Given the description of an element on the screen output the (x, y) to click on. 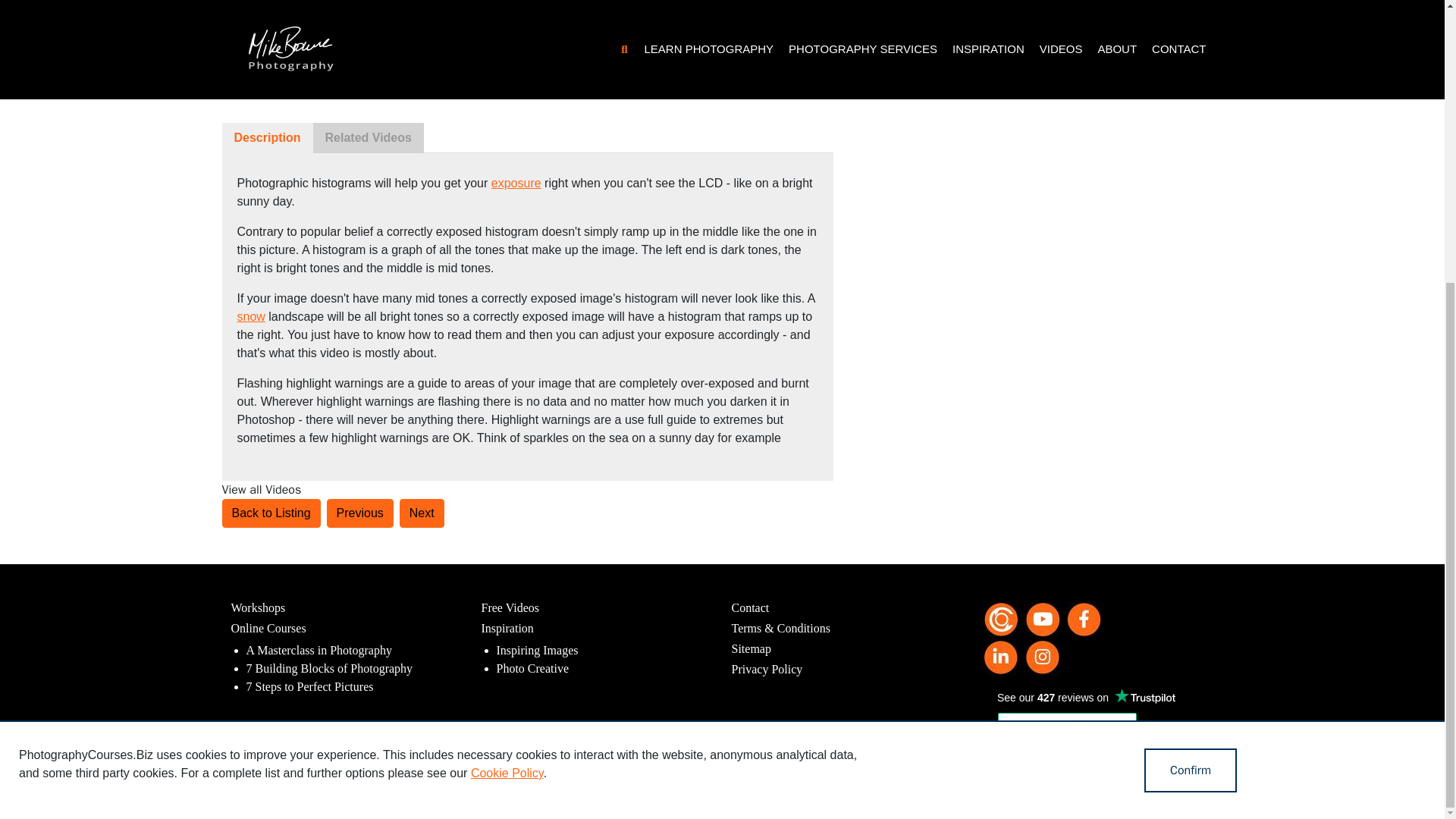
Customer reviews powered by Trustpilot (1085, 697)
Customer reviews powered by Trustpilot (1066, 732)
Share This (346, 77)
